Given the description of an element on the screen output the (x, y) to click on. 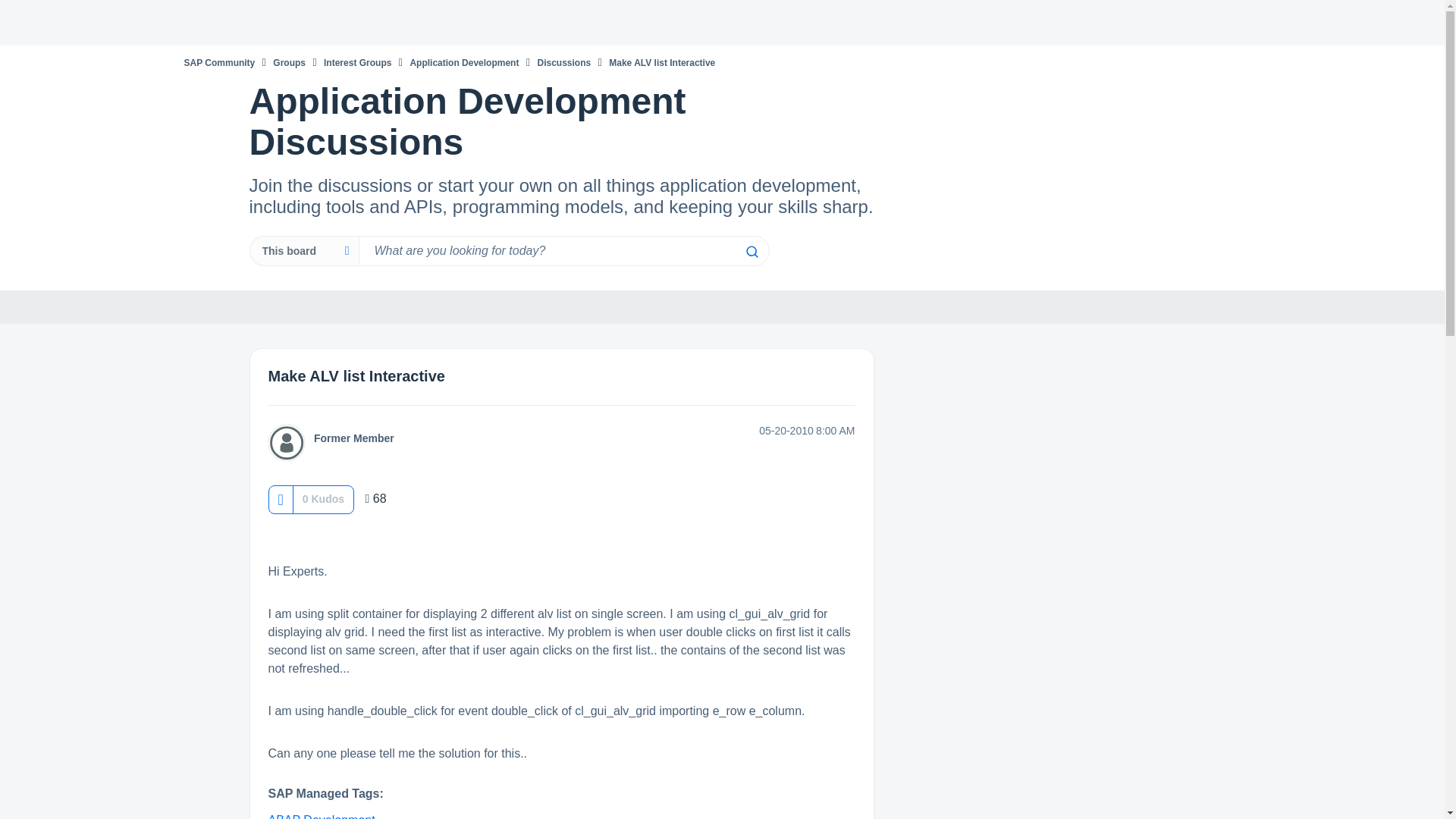
Application Development (463, 62)
Search (563, 250)
Interest Groups (357, 62)
Discussions (564, 62)
Search Granularity (303, 250)
Search (750, 251)
SAP Community (218, 62)
ABAP Development (321, 816)
Click here to give kudos to this post. (279, 499)
Search (750, 251)
The total number of kudos this post has received. (323, 498)
Search (750, 251)
Groups (289, 62)
